Given the description of an element on the screen output the (x, y) to click on. 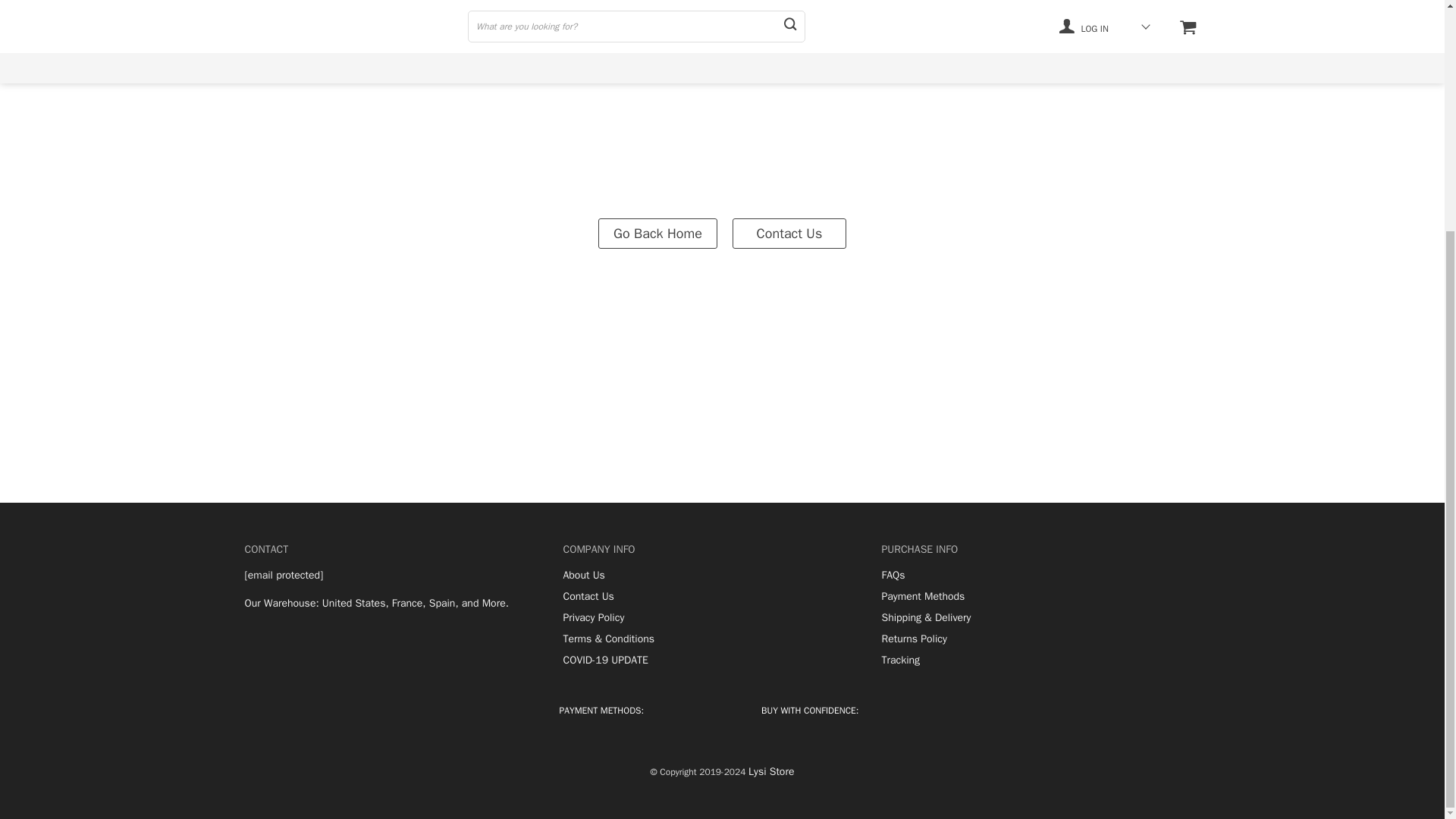
Payment Methods (921, 596)
Contact Us (587, 596)
Contact Us (788, 232)
Returns Policy (913, 639)
Privacy Policy (593, 617)
About Us (583, 575)
FAQs (892, 575)
COVID-19 UPDATE (604, 660)
Lysi Store (770, 771)
Go Back Home (657, 232)
